Given the description of an element on the screen output the (x, y) to click on. 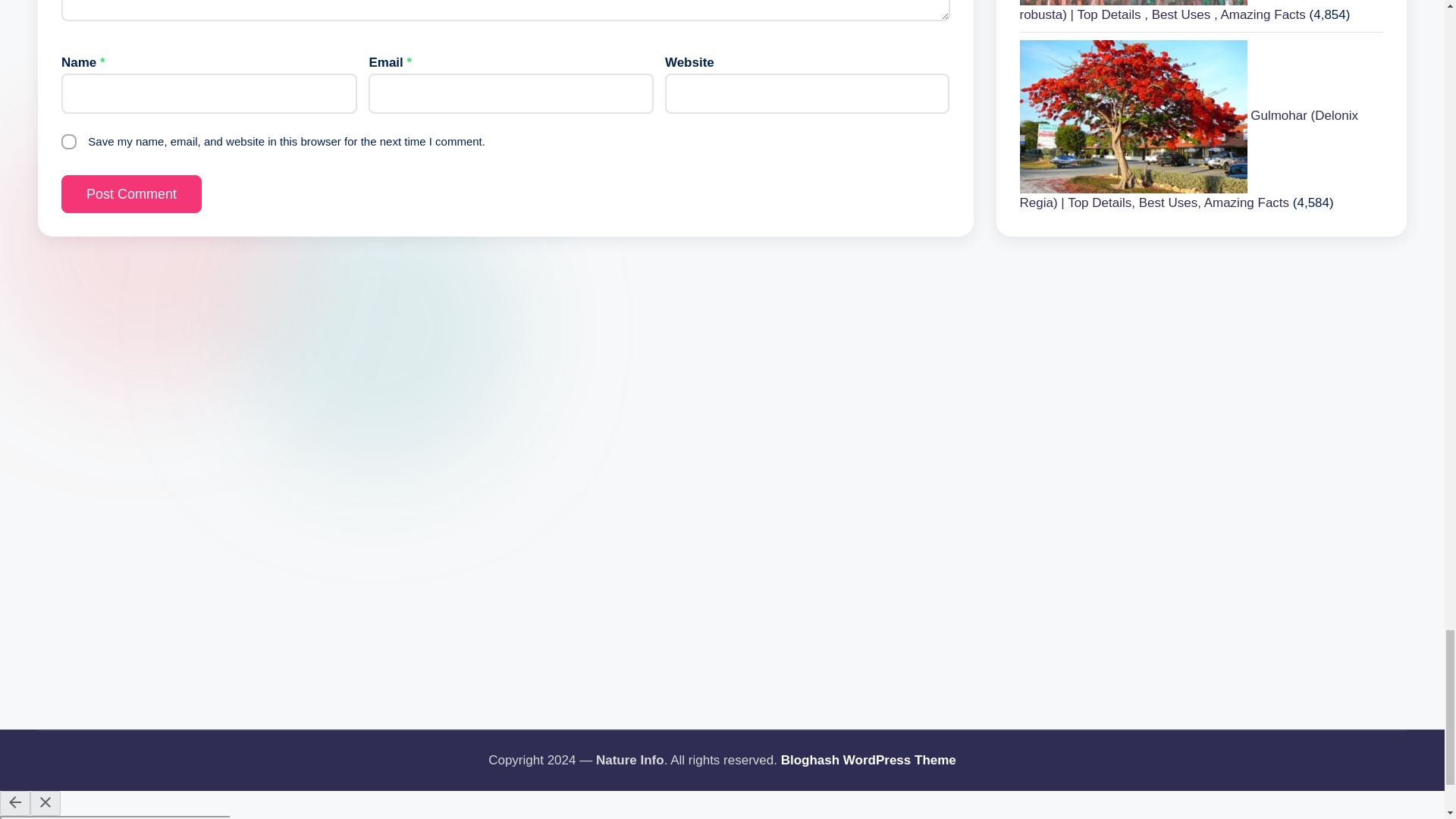
Post Comment (131, 193)
yes (69, 141)
